Given the description of an element on the screen output the (x, y) to click on. 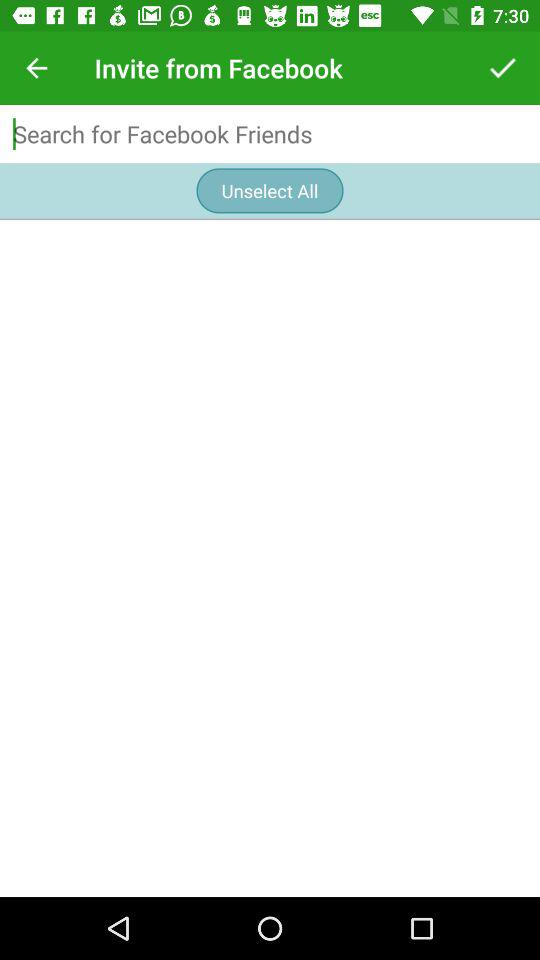
open the icon next to invite from facebook icon (503, 67)
